Given the description of an element on the screen output the (x, y) to click on. 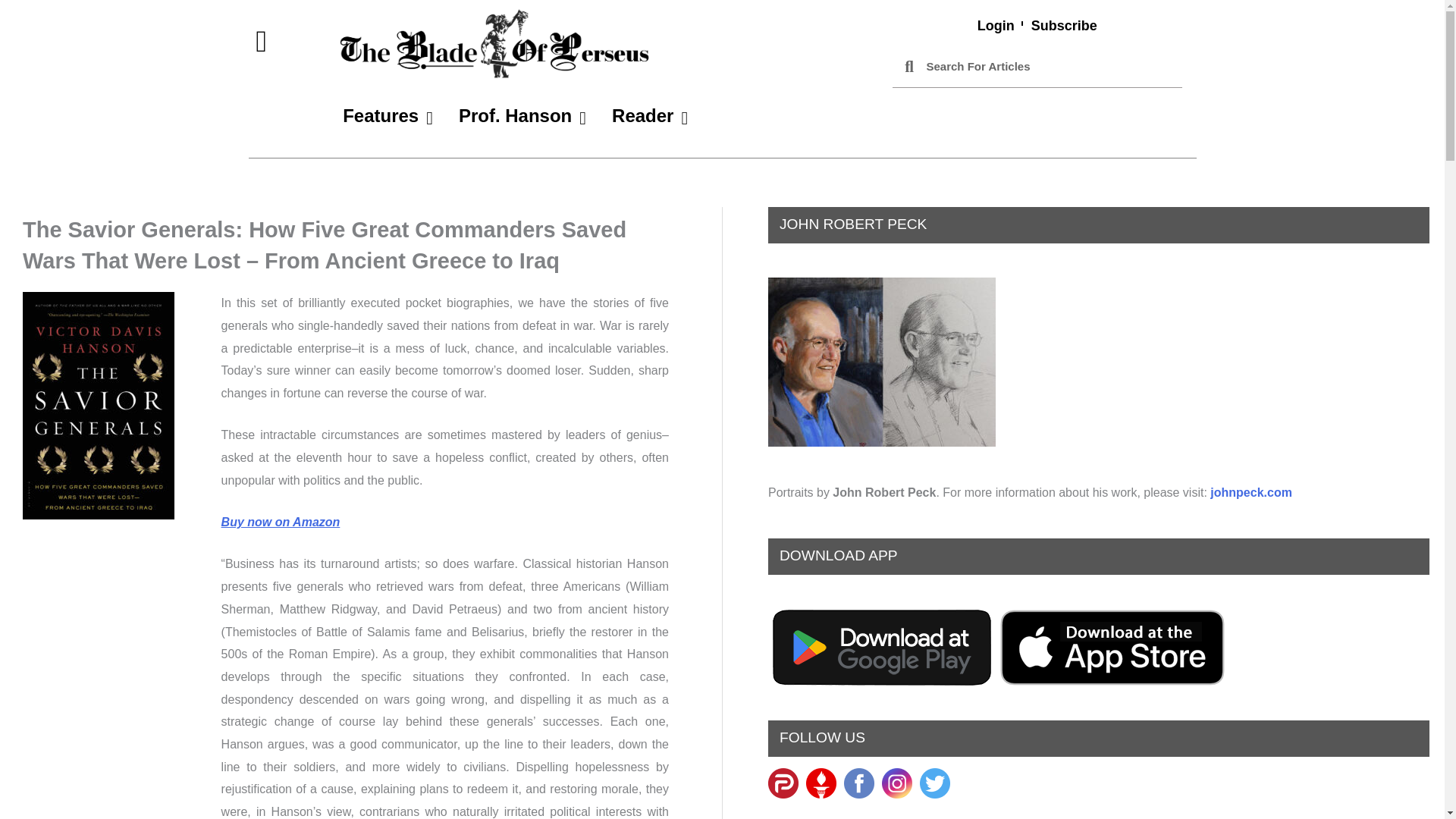
Prof. Hanson (521, 116)
Reader (649, 116)
Features (387, 116)
Login (996, 25)
Subscribe (1064, 25)
